Given the description of an element on the screen output the (x, y) to click on. 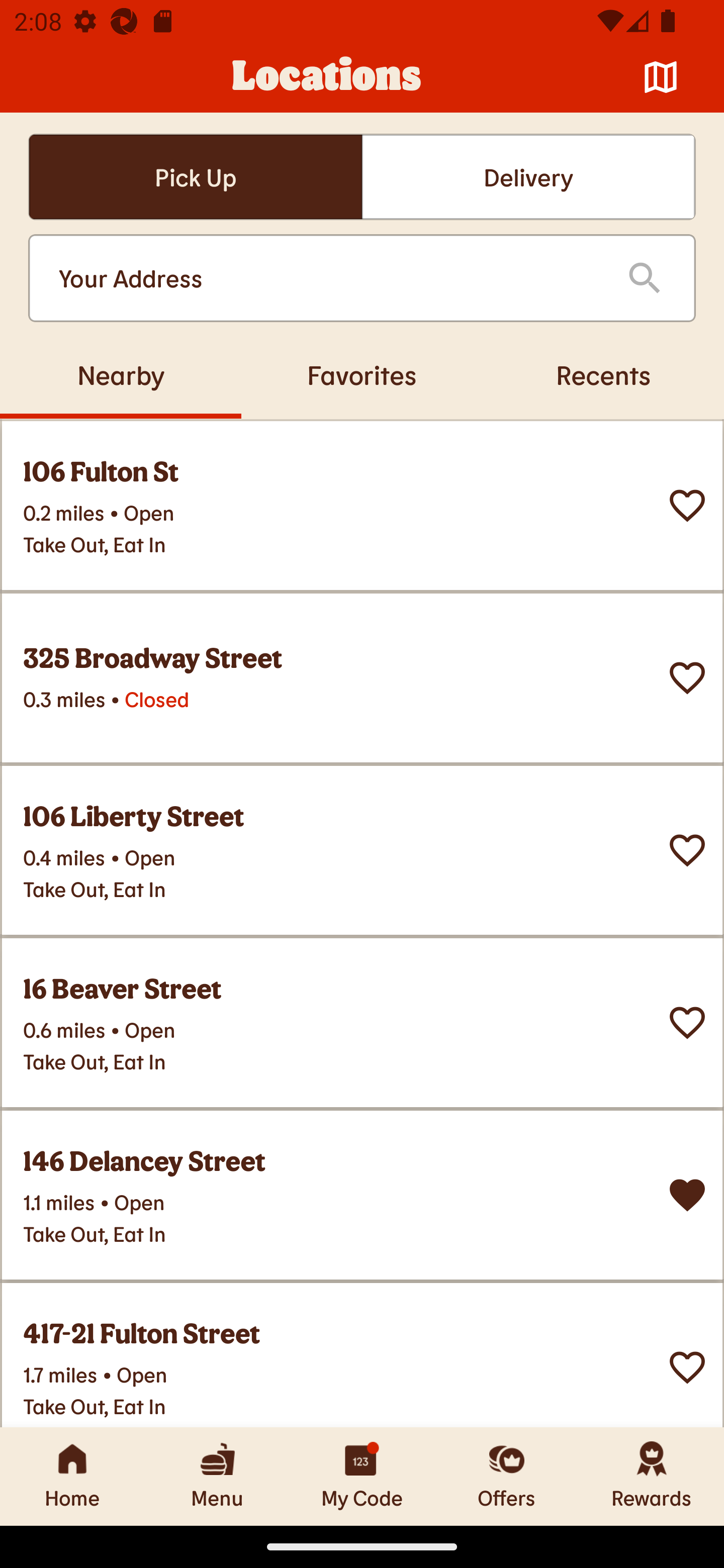
Map 󰦂 (660, 77)
Locations (326, 77)
Pick UpSelected Pick UpSelected Pick Up (195, 176)
Delivery Delivery Delivery (528, 176)
Your Address (327, 277)
Nearby (120, 374)
Favorites (361, 374)
Recents (603, 374)
Set this restaurant as a favorite  (687, 505)
Set this restaurant as a favorite  (687, 677)
Set this restaurant as a favorite  (687, 850)
Set this restaurant as a favorite  (687, 1022)
Remove from Favorites?  (687, 1195)
Set this restaurant as a favorite  (687, 1367)
Home (72, 1475)
Menu (216, 1475)
My Code (361, 1475)
Offers (506, 1475)
Rewards (651, 1475)
